Given the description of an element on the screen output the (x, y) to click on. 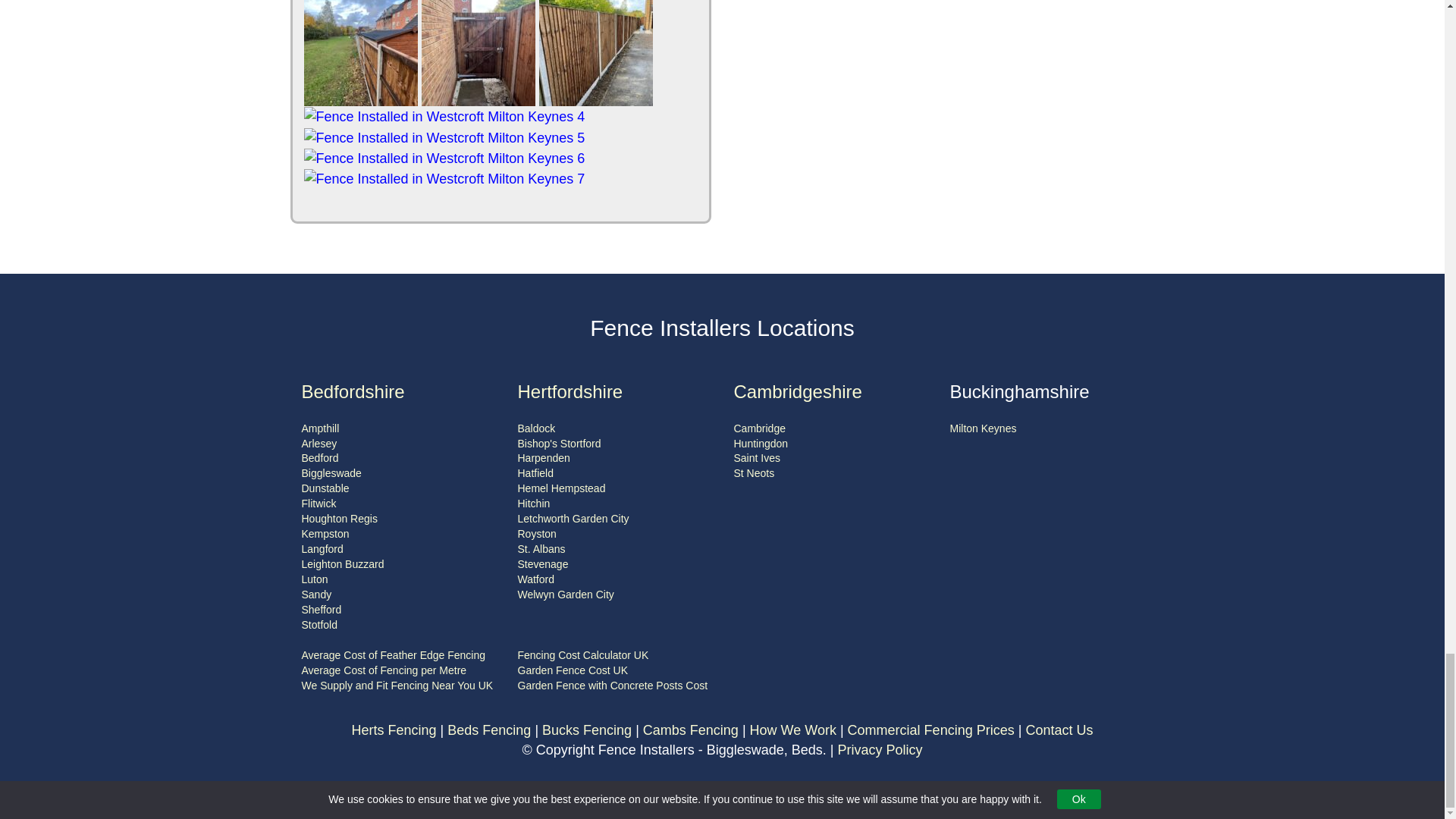
Bedford (320, 458)
Flitwick (318, 503)
Arlesey (319, 443)
Houghton Regis (339, 518)
Langford (322, 548)
Bedfordshire (352, 391)
Dunstable (325, 488)
Leighton Buzzard (342, 563)
Ampthill (320, 428)
Kempston (325, 533)
